Given the description of an element on the screen output the (x, y) to click on. 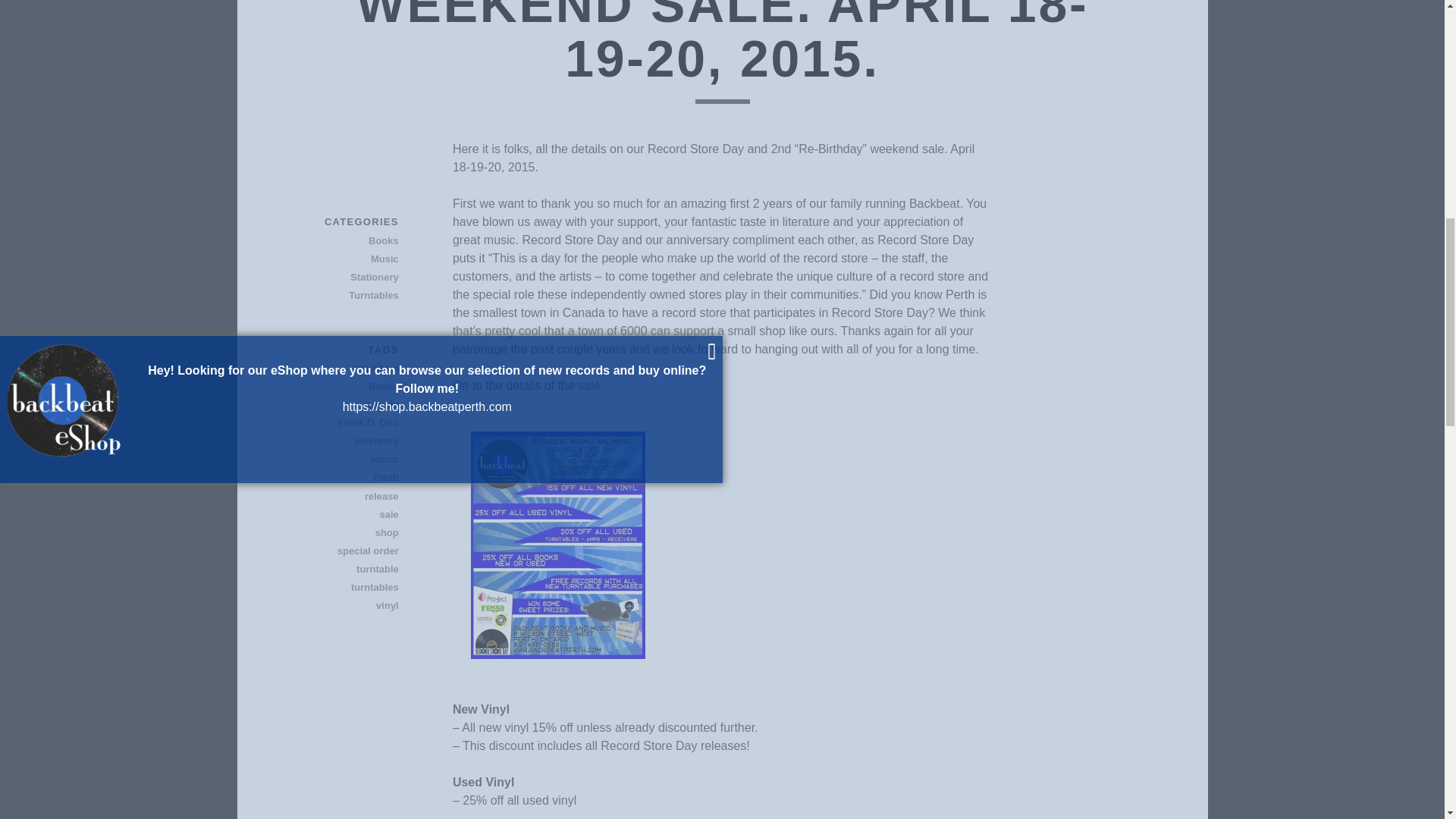
View all posts tagged amplifiers (344, 368)
View all posts in Turntables (344, 295)
View all posts tagged Canada (344, 404)
View all posts in Books (344, 240)
View all posts tagged Books (344, 386)
View all posts in Music (344, 259)
View all posts in Stationery (344, 277)
